Given the description of an element on the screen output the (x, y) to click on. 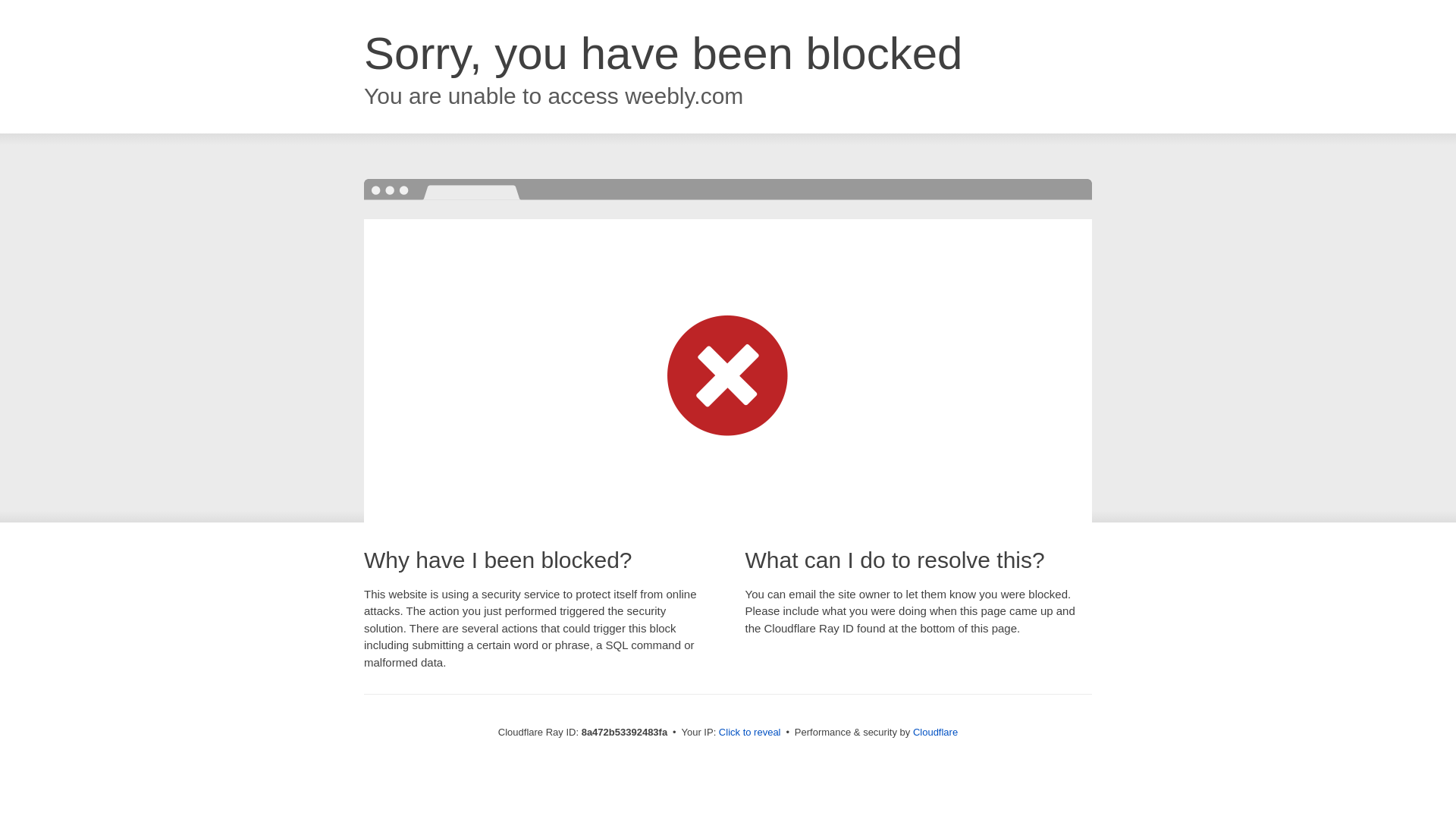
Click to reveal (749, 732)
Cloudflare (935, 731)
